Given the description of an element on the screen output the (x, y) to click on. 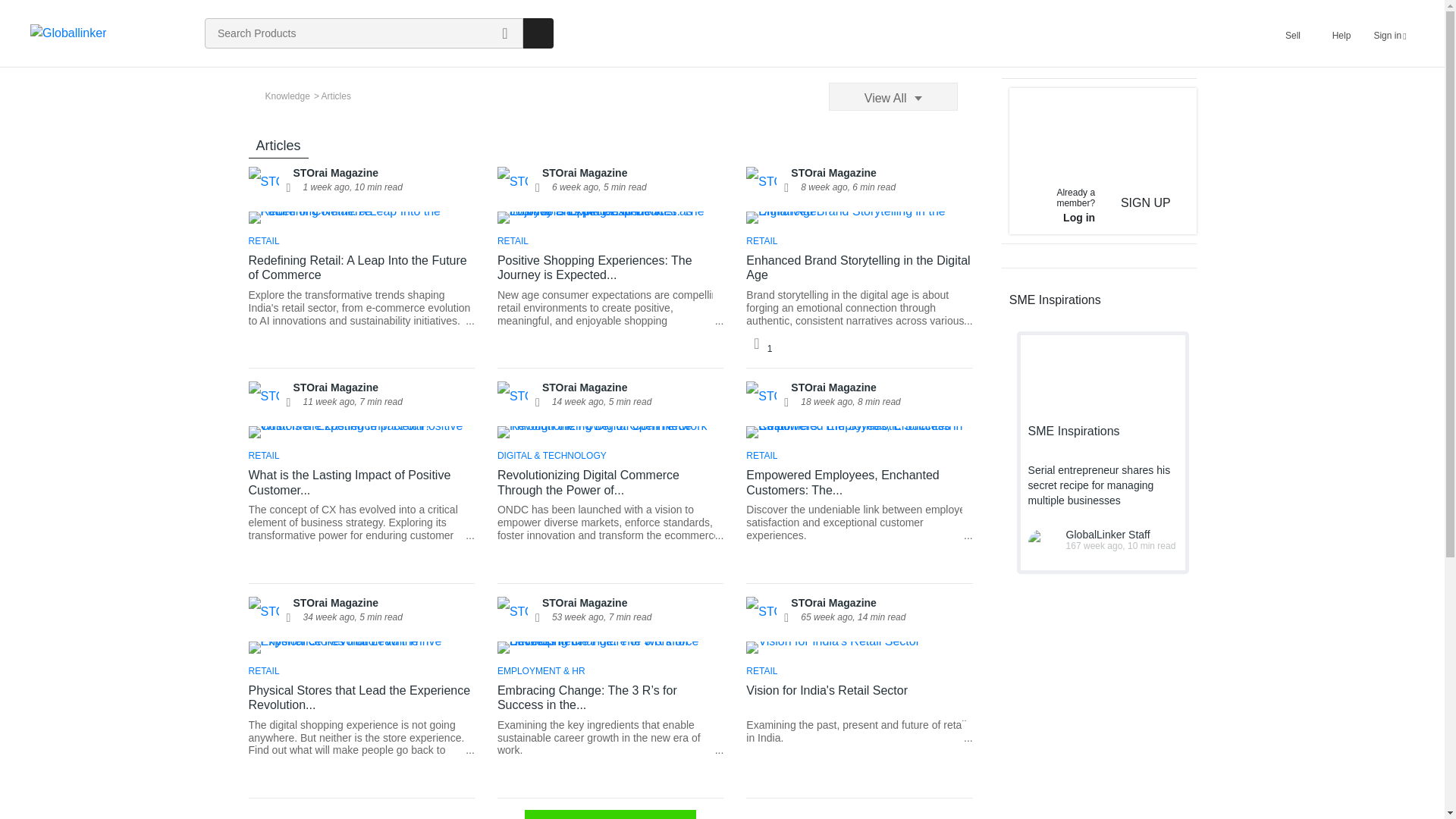
Redefining Retail: A Leap Into the Future of Commerce (361, 307)
View All (892, 96)
Help (1341, 33)
Sign in (1389, 33)
Knowledge (284, 95)
Enhanced Brand Storytelling in the Digital Age (858, 314)
Globallinker (68, 33)
Enhanced Brand Storytelling in the Digital Age (858, 267)
Sell (1292, 33)
Redefining Retail: A Leap Into the Future of Commerce (361, 267)
Enhanced Brand Storytelling in the Digital Age (858, 217)
Redefining Retail: A Leap Into the Future of Commerce (361, 217)
